Given the description of an element on the screen output the (x, y) to click on. 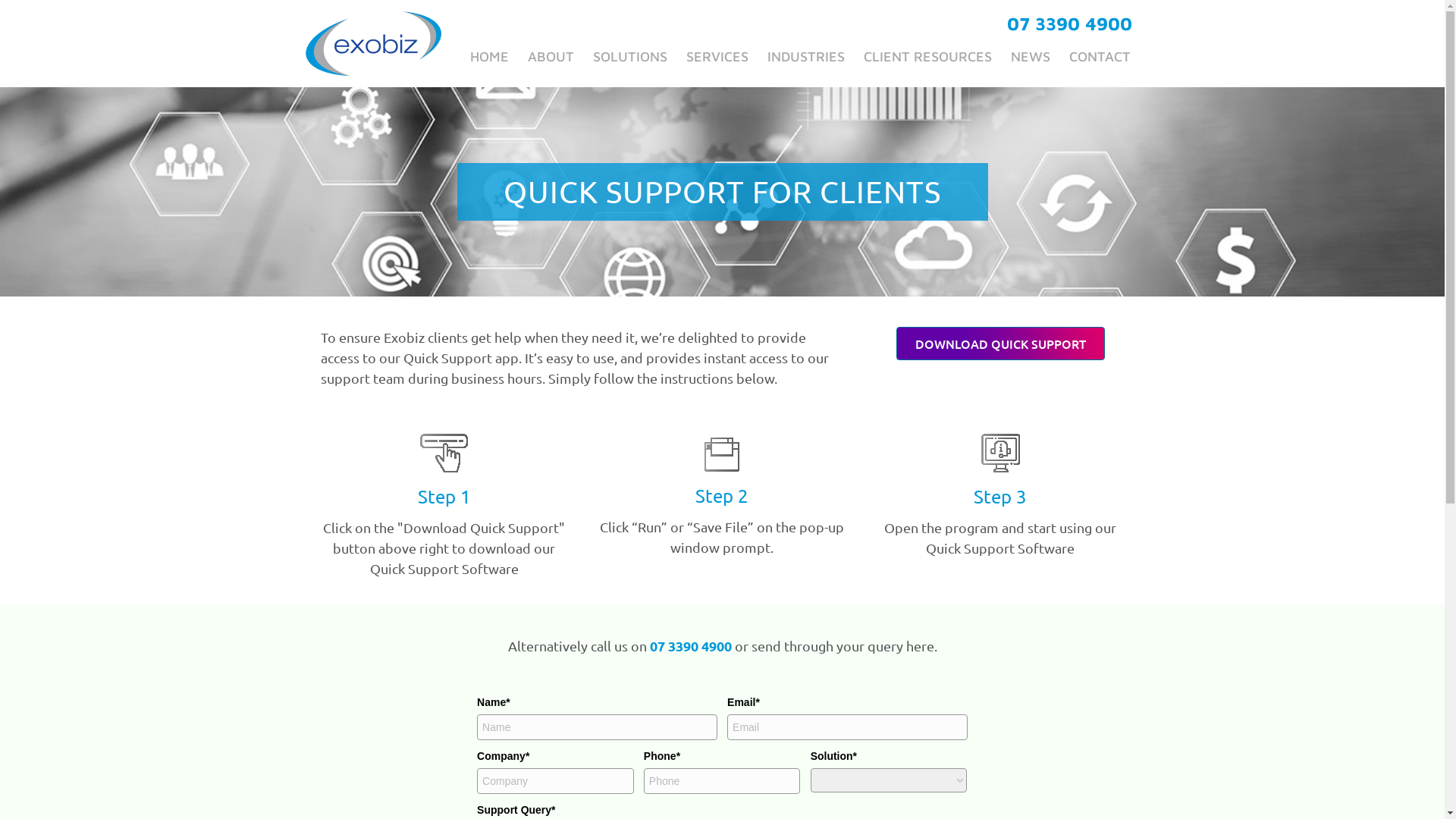
CLIENT RESOURCES Element type: text (926, 56)
ABOUT Element type: text (550, 56)
SERVICES Element type: text (716, 56)
07 3390 4900 Element type: text (1069, 23)
icn-open-program-start-bw Element type: hover (1000, 452)
exobiz_logo-final Element type: hover (372, 43)
HOME Element type: text (489, 56)
icn-run-save-file-bw Element type: hover (721, 454)
CONTACT Element type: text (1099, 56)
INDUSTRIES Element type: text (805, 56)
DOWNLOAD QUICK SUPPORT Element type: text (1000, 343)
SOLUTIONS Element type: text (629, 56)
icn-quick-support-bw Element type: hover (443, 452)
NEWS Element type: text (1029, 56)
07 3390 4900 Element type: text (690, 645)
